Given the description of an element on the screen output the (x, y) to click on. 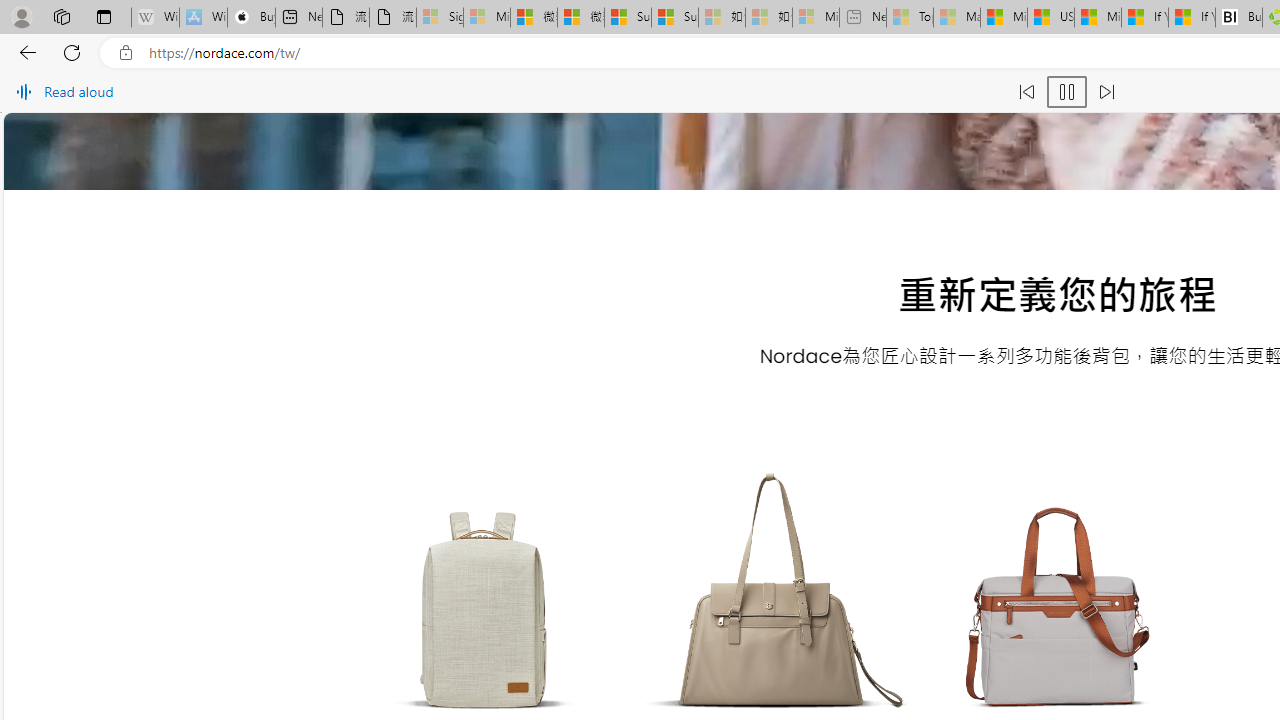
Pause read aloud (Ctrl+Shift+U) (1065, 92)
US Heat Deaths Soared To Record High Last Year (1050, 17)
Microsoft account | Account Checkup - Sleeping (815, 17)
Read previous paragraph (1026, 92)
Top Stories - MSN - Sleeping (910, 17)
Marine life - MSN - Sleeping (957, 17)
Microsoft Services Agreement - Sleeping (486, 17)
Buy iPad - Apple (251, 17)
